Given the description of an element on the screen output the (x, y) to click on. 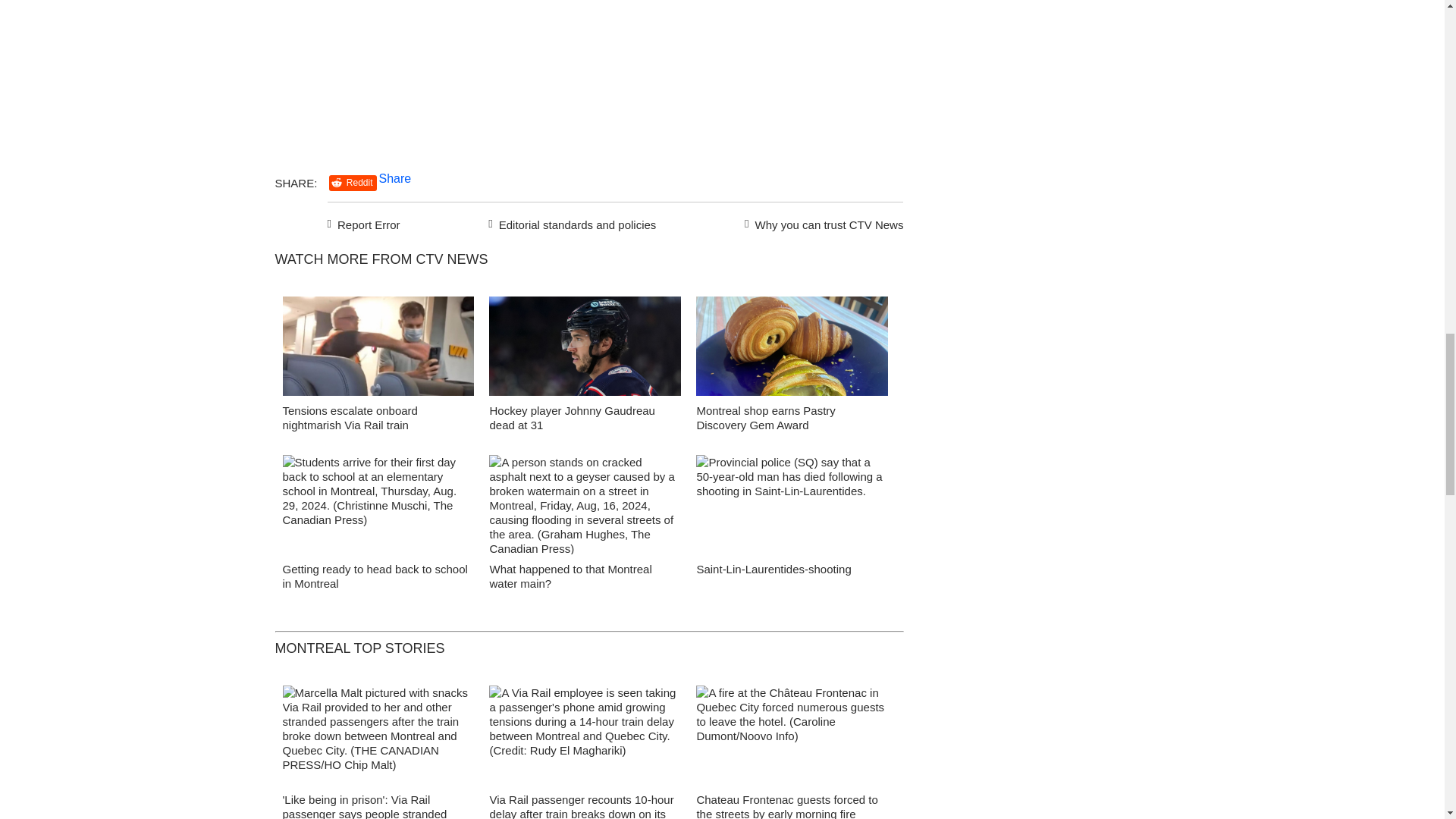
What happened to that Montreal water main? (569, 575)
 Johnny Gaudreau  (585, 350)
Getting ready to head back to school in Montreal (374, 575)
Share (395, 178)
false (378, 345)
Reddit (353, 182)
WATCH: Via Rail worker appears to snatch passenger (378, 350)
Editorial standards and policies (569, 222)
false (585, 345)
